Given the description of an element on the screen output the (x, y) to click on. 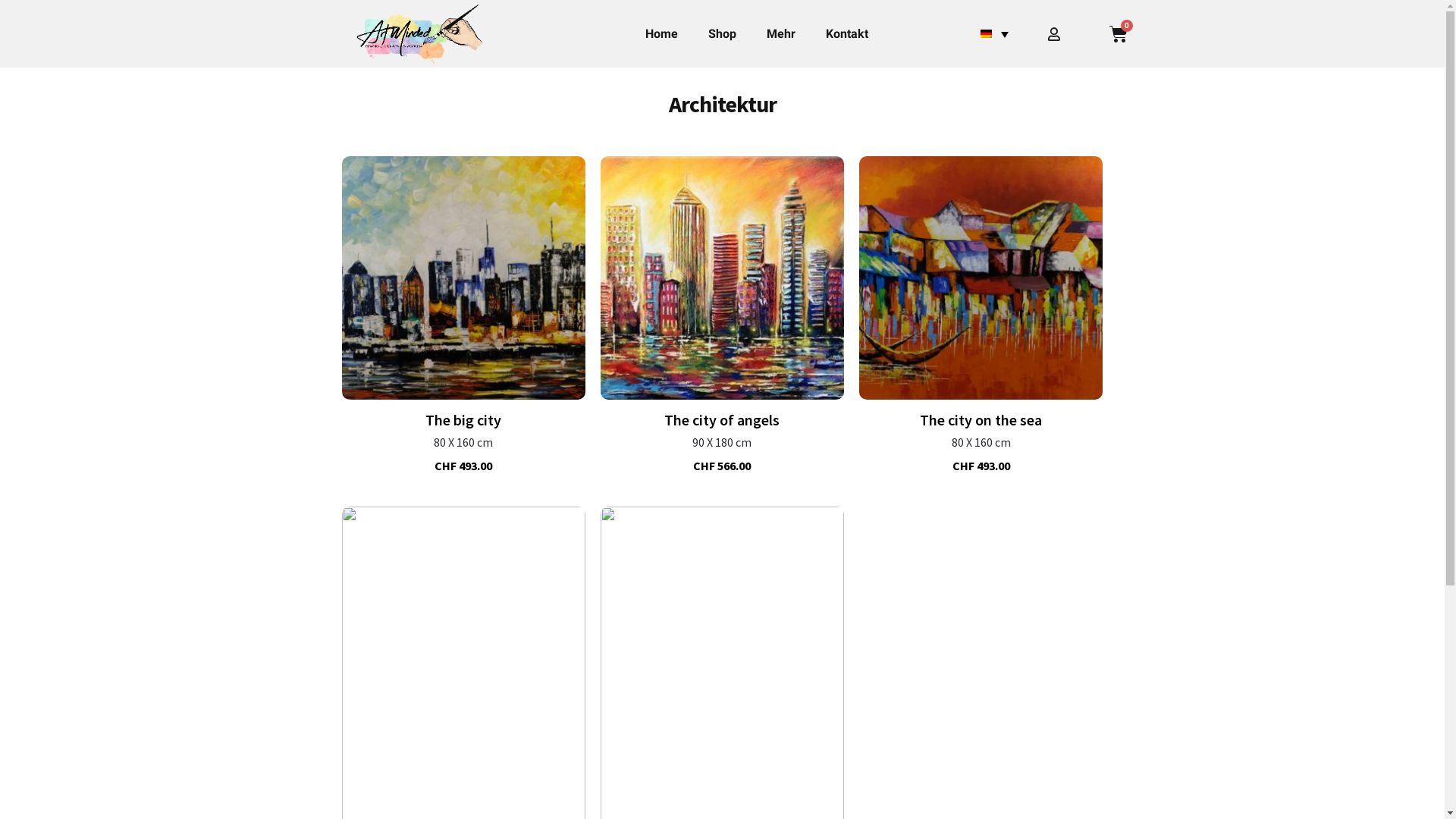
The big city
80 X 160 cm
CHF 493.00 Element type: text (462, 314)
Mehr Element type: text (780, 33)
The city on the sea
80 X 160 cm
CHF 493.00 Element type: text (980, 314)
Home Element type: text (661, 33)
Kontakt Element type: text (846, 33)
The city of angels
90 X 180 cm
CHF 566.00 Element type: text (722, 314)
Shop Element type: text (722, 33)
